Given the description of an element on the screen output the (x, y) to click on. 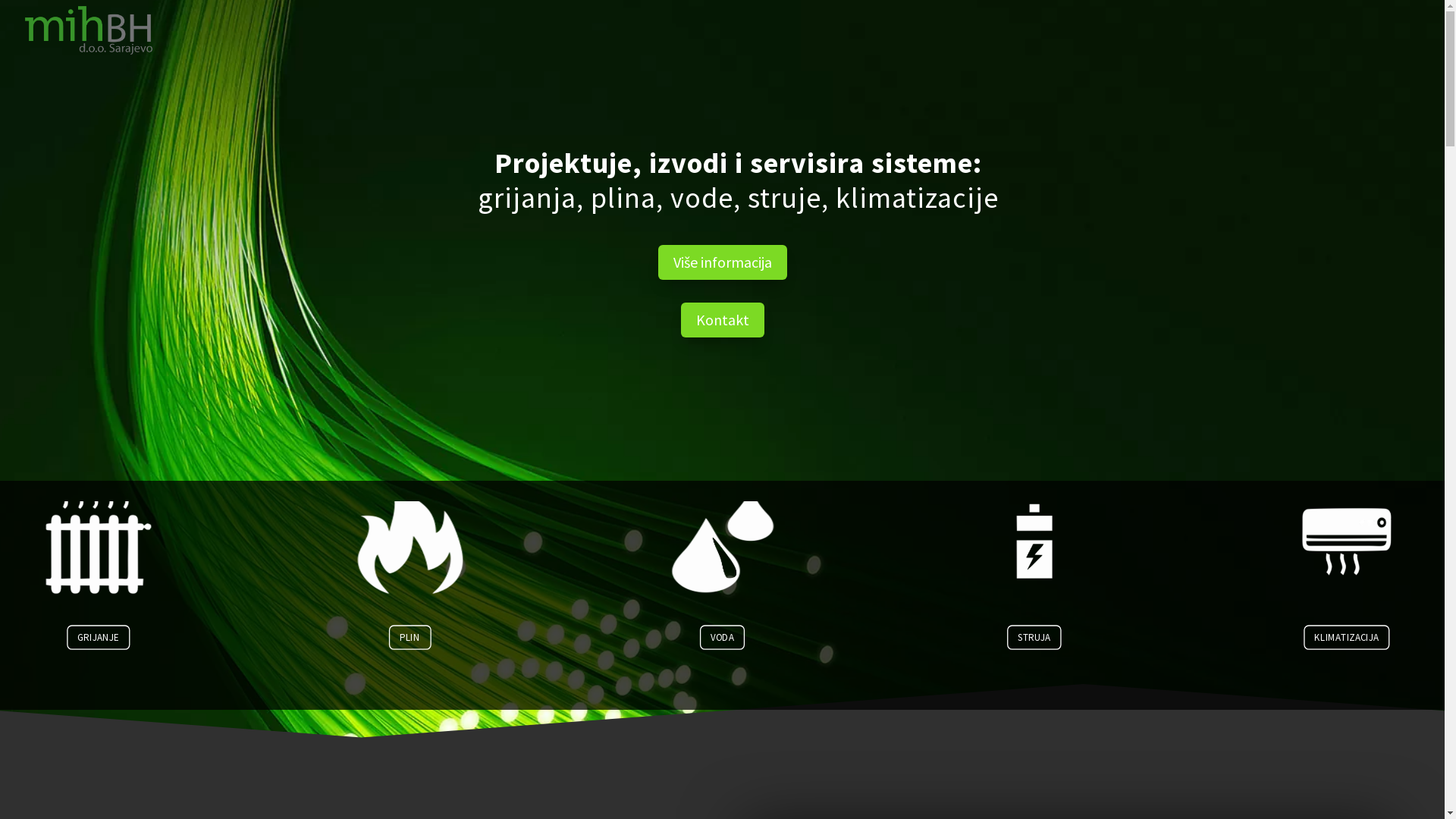
GRIJANJE Element type: text (114, 643)
PLIN Element type: text (421, 643)
STRUJA Element type: text (1048, 643)
Kontakt Element type: text (722, 319)
KLIMATIZACIJA Element type: text (1369, 643)
Home Element type: text (1402, 42)
VODA Element type: text (733, 643)
